Given the description of an element on the screen output the (x, y) to click on. 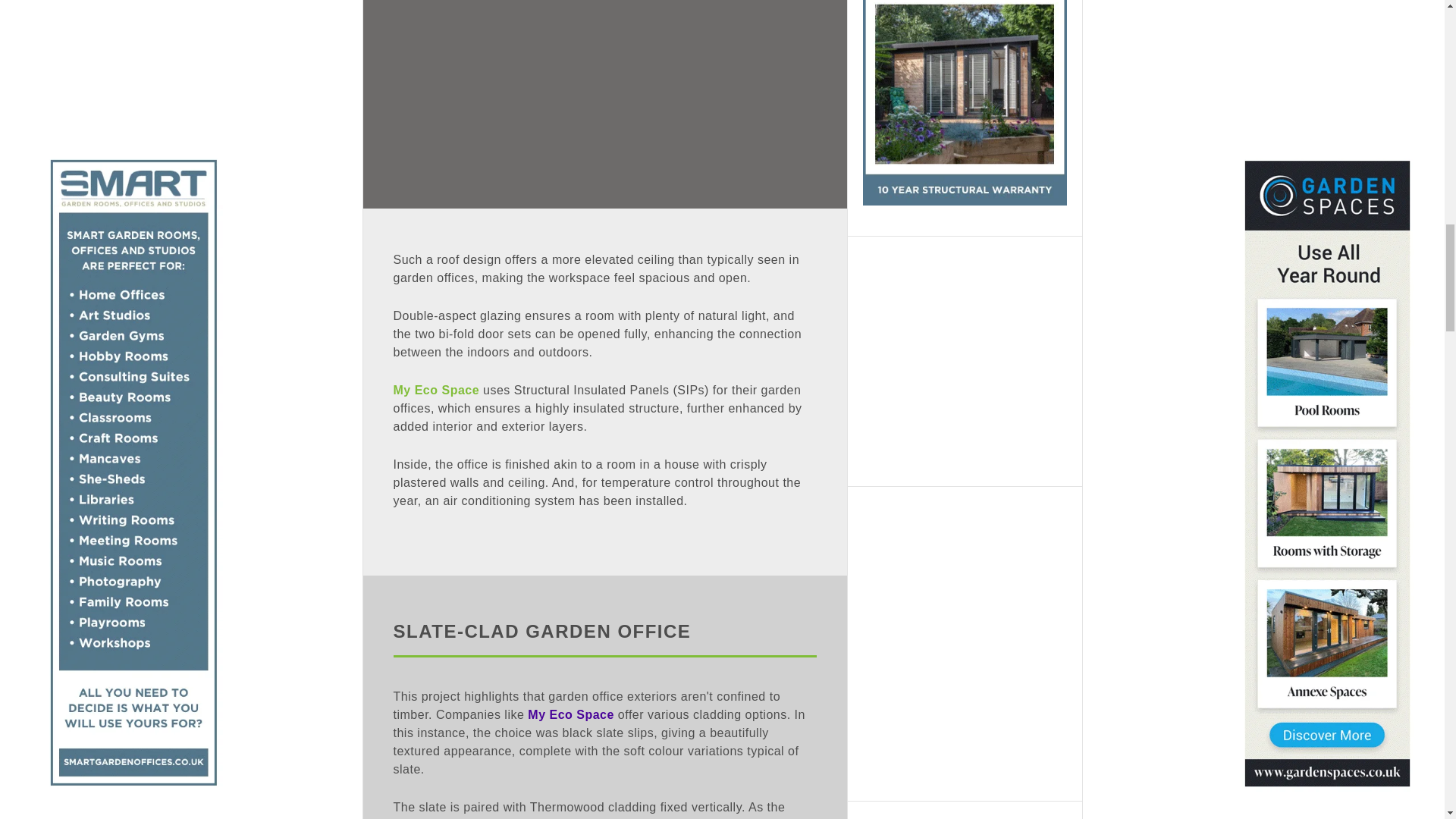
Slate clad garden office by My Eco Space-3 (603, 104)
